Given the description of an element on the screen output the (x, y) to click on. 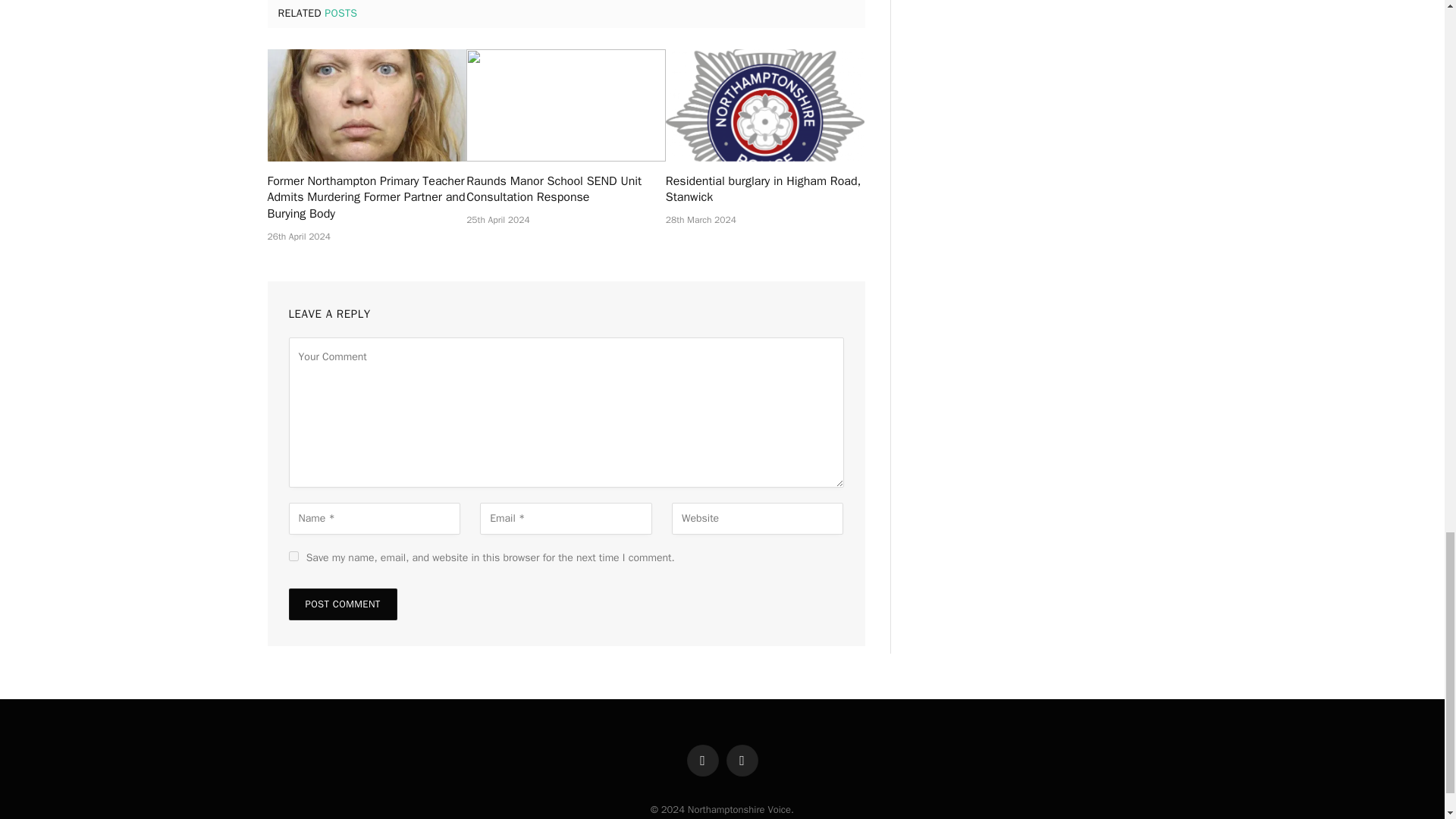
yes (293, 556)
Post Comment (342, 603)
